Given the description of an element on the screen output the (x, y) to click on. 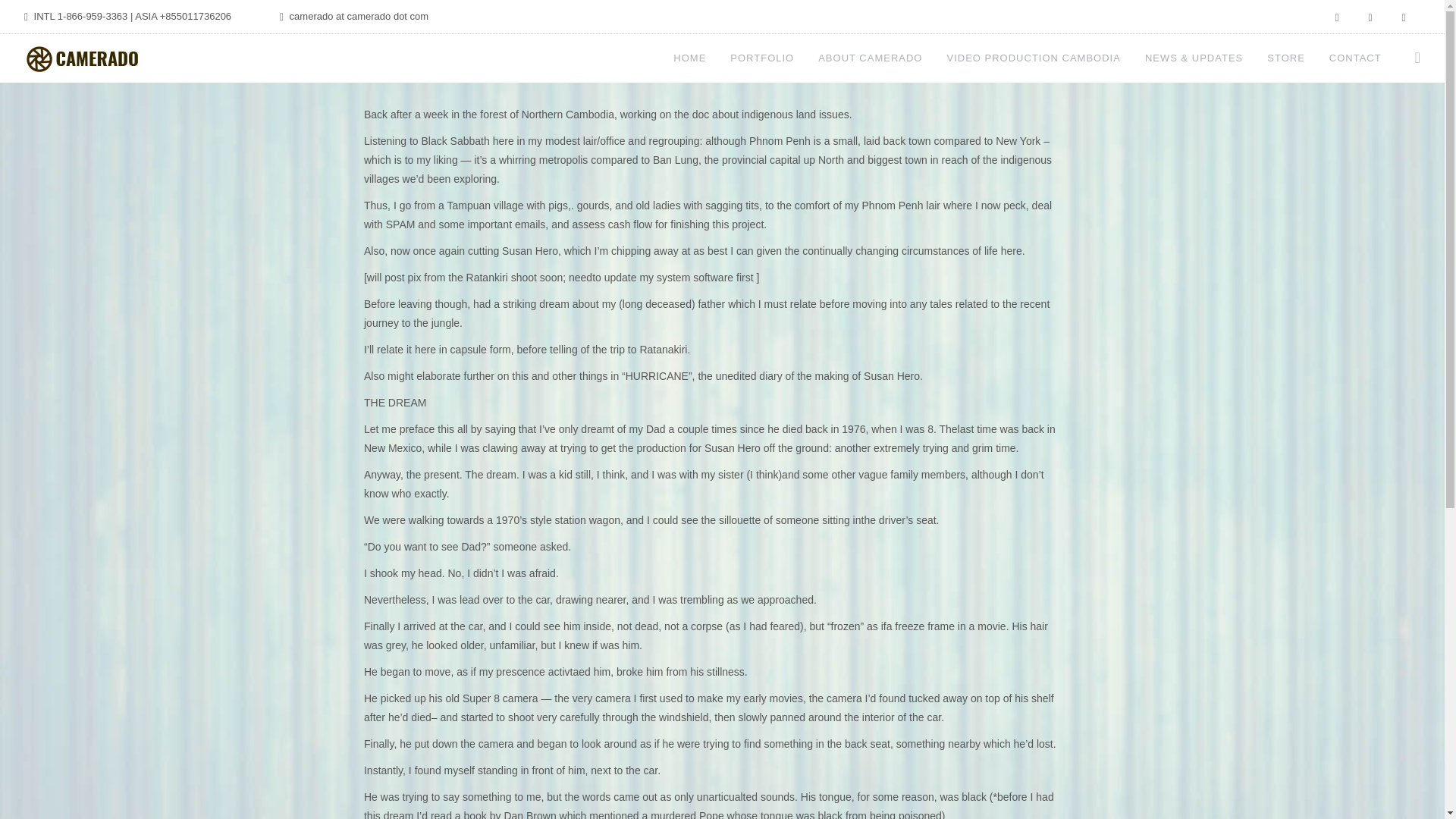
ABOUT CAMERADO (869, 58)
CONTACT (1355, 58)
VIDEO PRODUCTION CAMBODIA (1032, 58)
PORTFOLIO (761, 58)
